Given the description of an element on the screen output the (x, y) to click on. 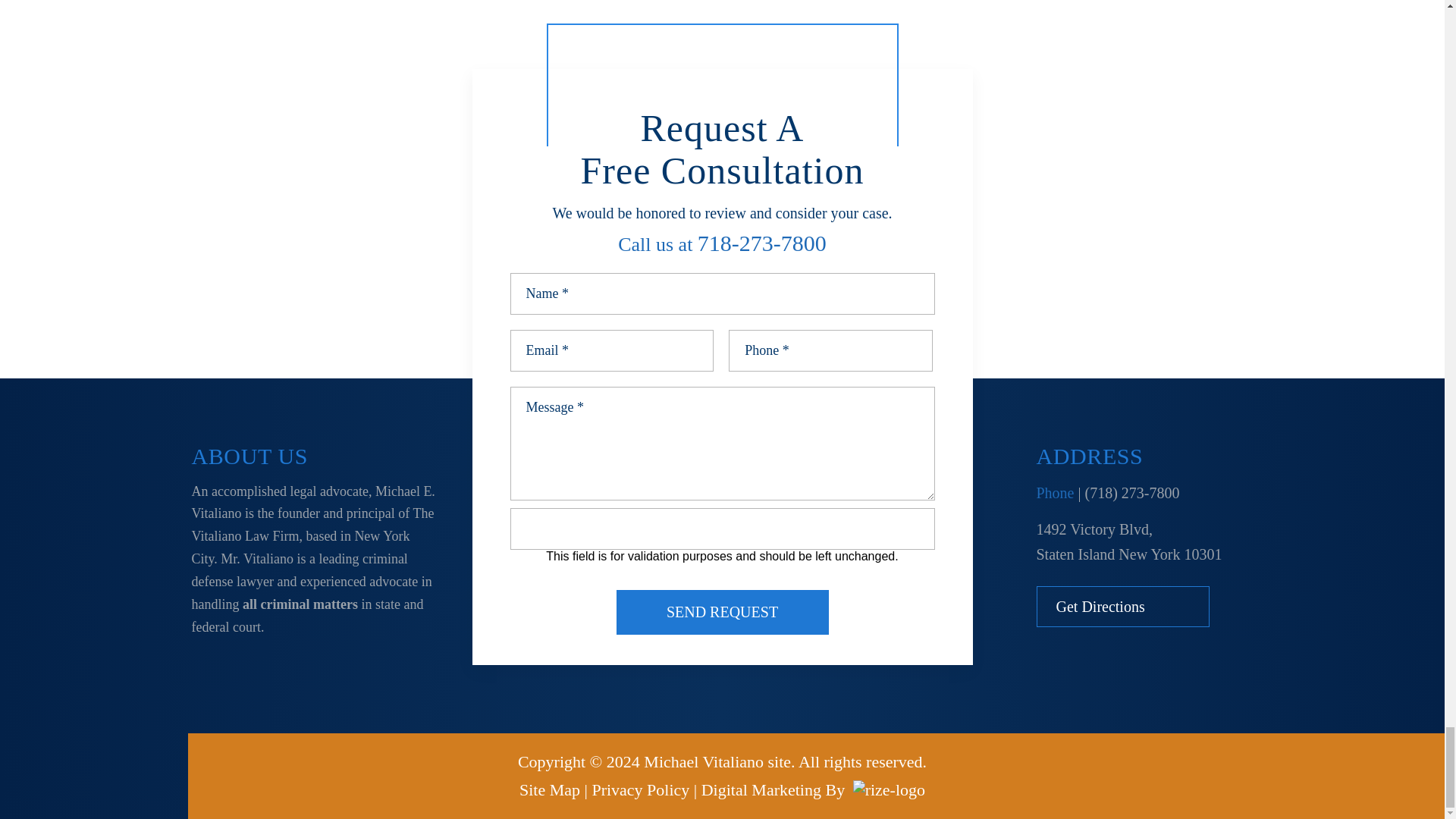
Send request (721, 611)
